Given the description of an element on the screen output the (x, y) to click on. 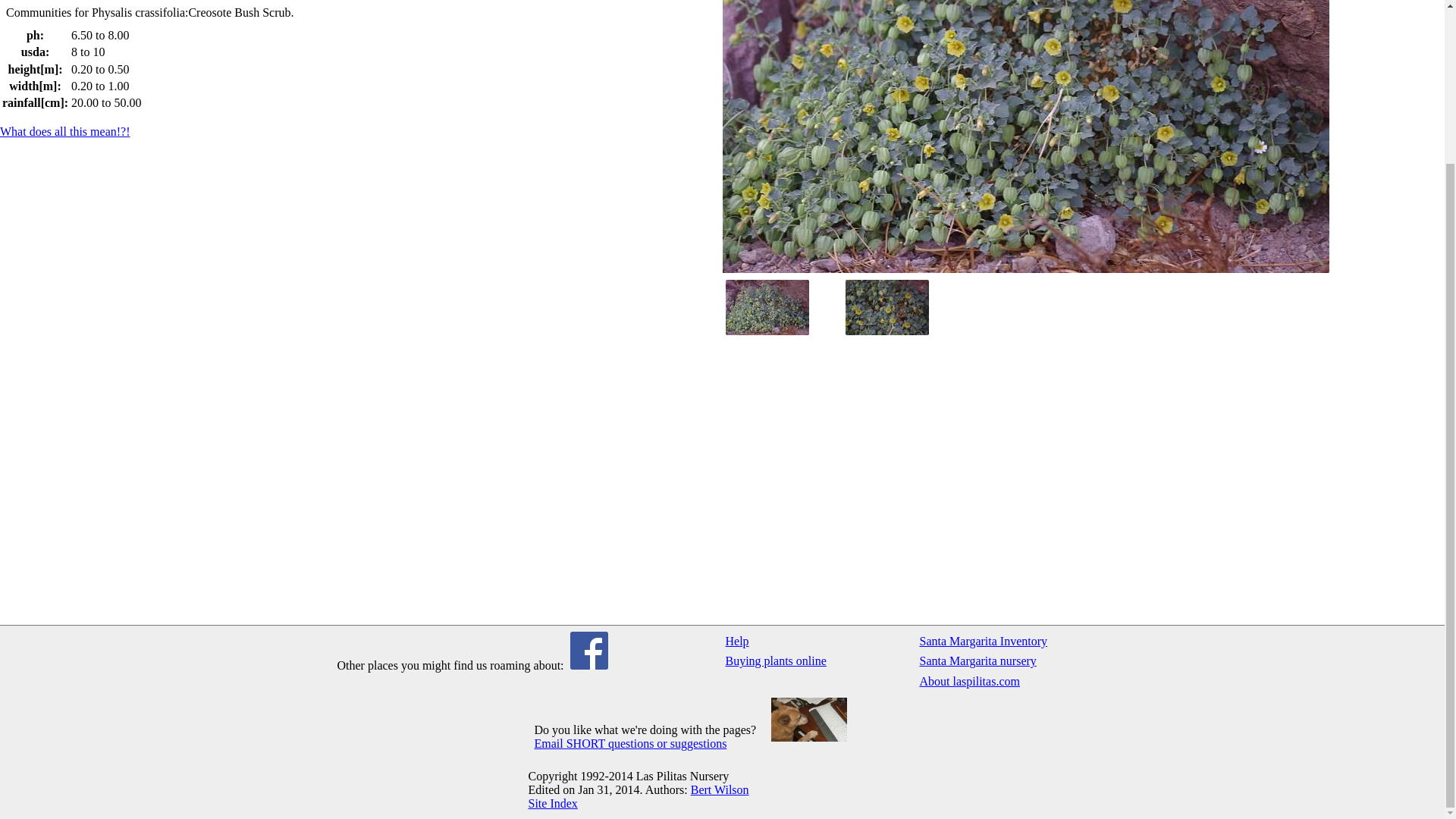
Online Store for California native plants. (818, 660)
About laspilitas.com (1012, 681)
What does all this mean!?! (65, 131)
Email SHORT questions or suggestions (630, 743)
Las Pilitas Nursery on Facebook (589, 665)
Buying plants online (818, 660)
Printable California native availability list (1012, 641)
Site Index (551, 802)
Bert Wilson (719, 789)
Santa Margarita nursery (1012, 660)
I need help. (818, 641)
About laspilitas.com (1012, 681)
Santa Margarita Inventory (1012, 641)
Help (818, 641)
